Given the description of an element on the screen output the (x, y) to click on. 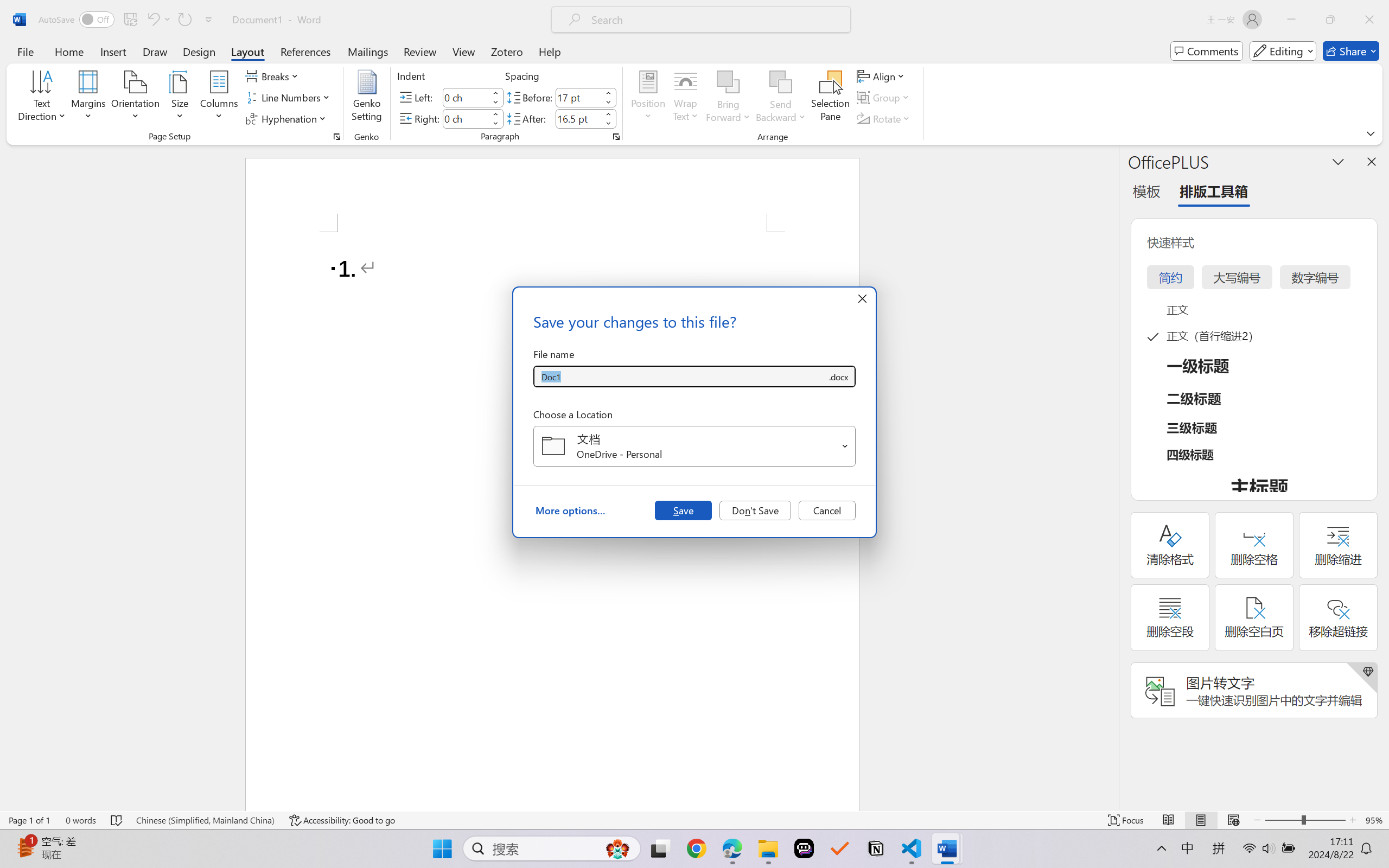
Rotate (884, 118)
Spacing After (578, 118)
Undo Number Default (152, 19)
